Given the description of an element on the screen output the (x, y) to click on. 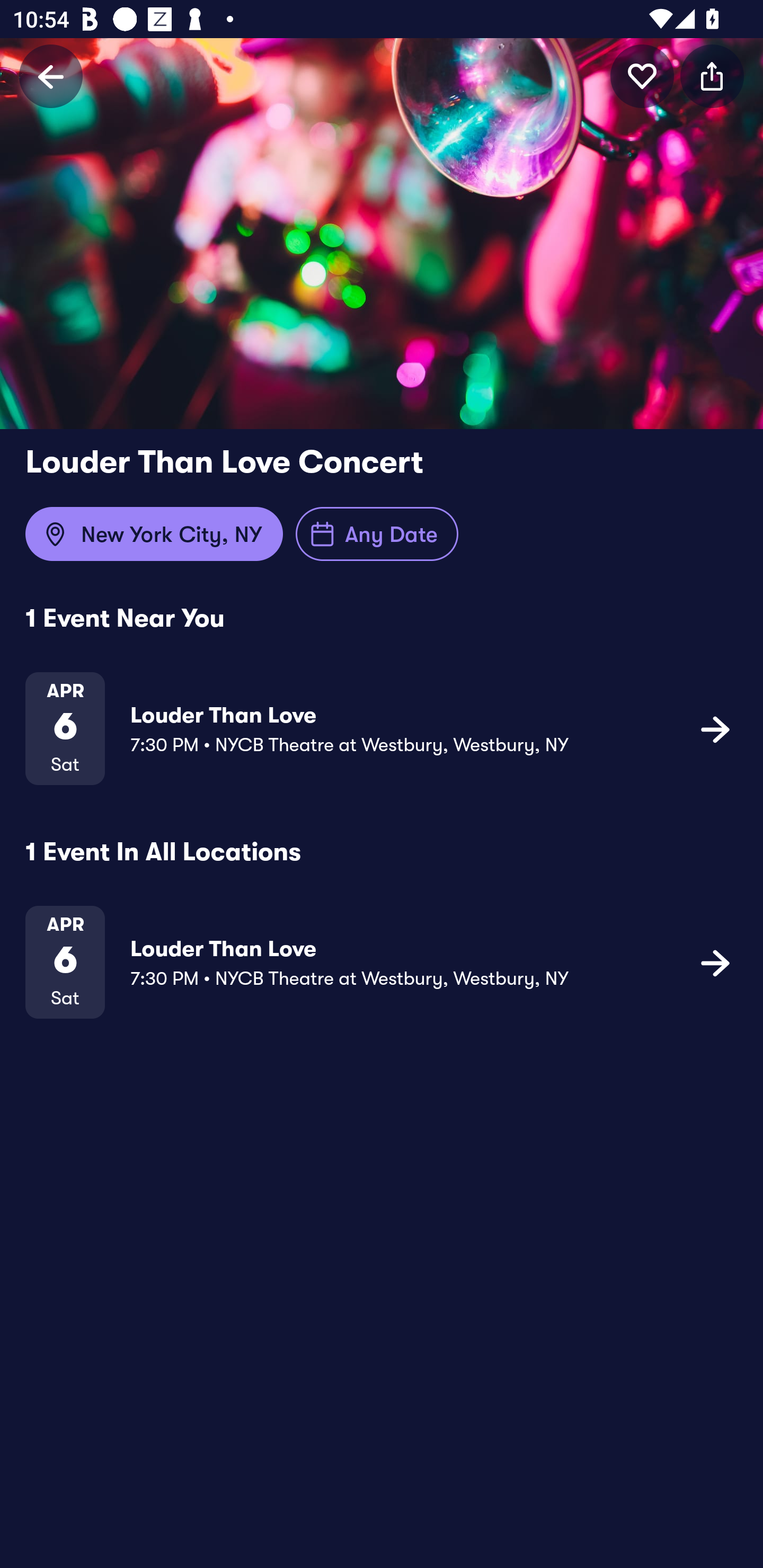
Back (50, 75)
icon button (641, 75)
icon button (711, 75)
New York City, NY (153, 533)
Any Date (377, 533)
icon button (714, 729)
icon button (714, 962)
